Given the description of an element on the screen output the (x, y) to click on. 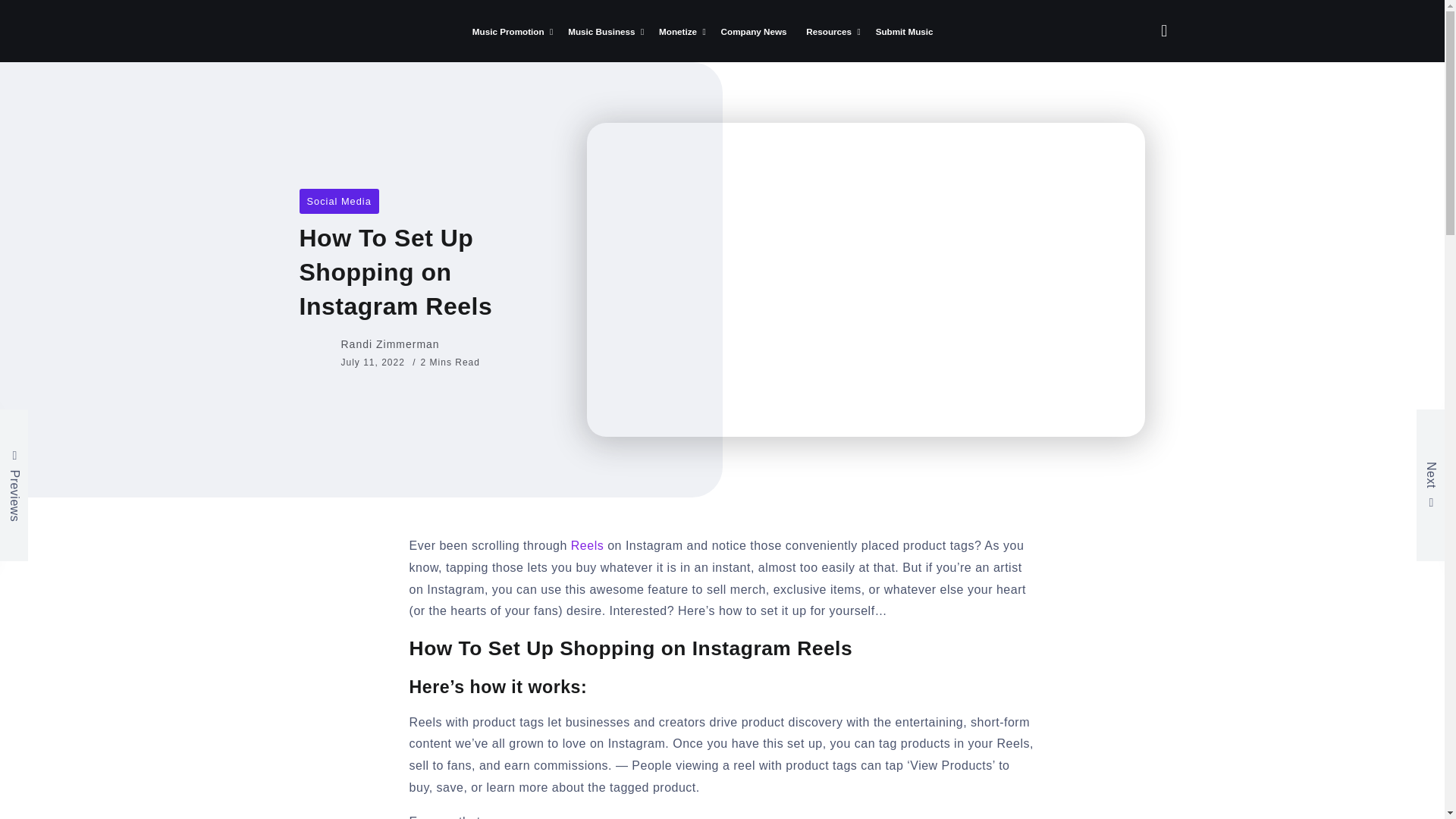
Monetize (679, 31)
Resources (831, 31)
Music Business (604, 31)
Social Media (338, 201)
Company News (754, 31)
Music Promotion (510, 31)
Submit Music (903, 31)
